Given the description of an element on the screen output the (x, y) to click on. 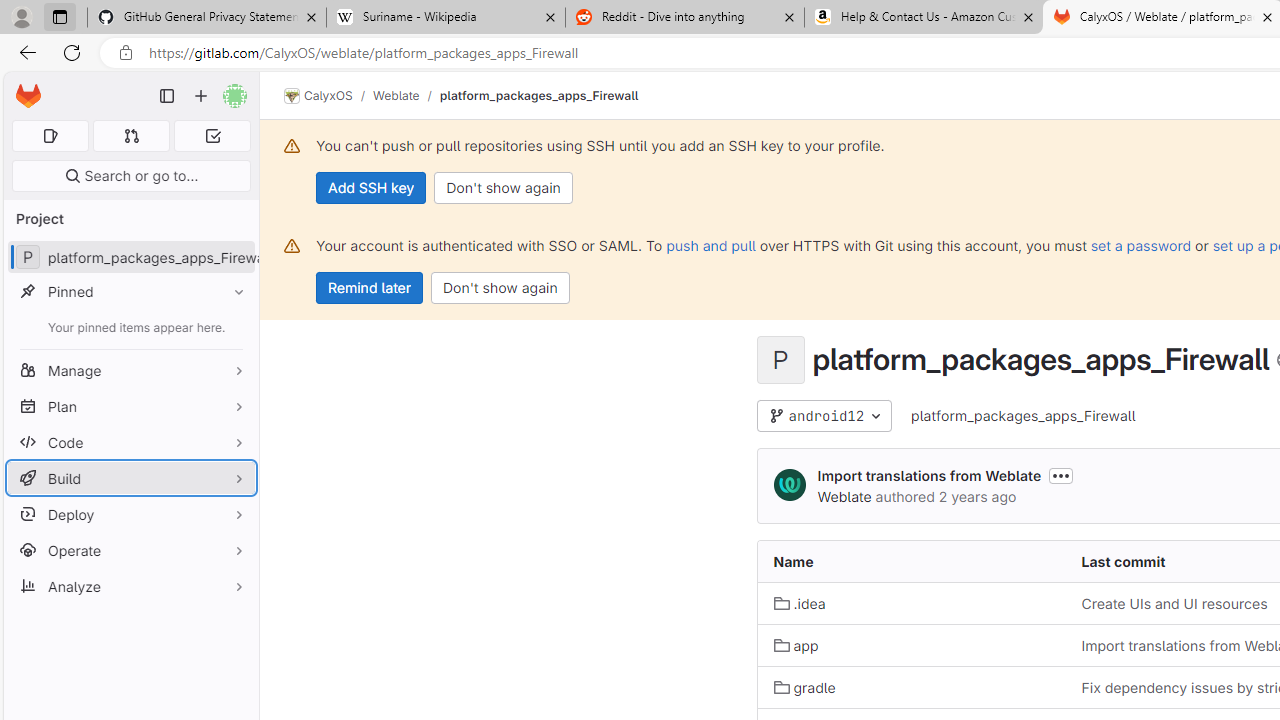
Import translations from Weblate (928, 475)
Hosted Weblate's avatar (789, 485)
To-Do list 0 (212, 136)
app (796, 645)
Build (130, 478)
Help & Contact Us - Amazon Customer Service (924, 17)
gradle (911, 687)
Remind later (369, 287)
Pinned (130, 291)
GitHub General Privacy Statement - GitHub Docs (207, 17)
